Given the description of an element on the screen output the (x, y) to click on. 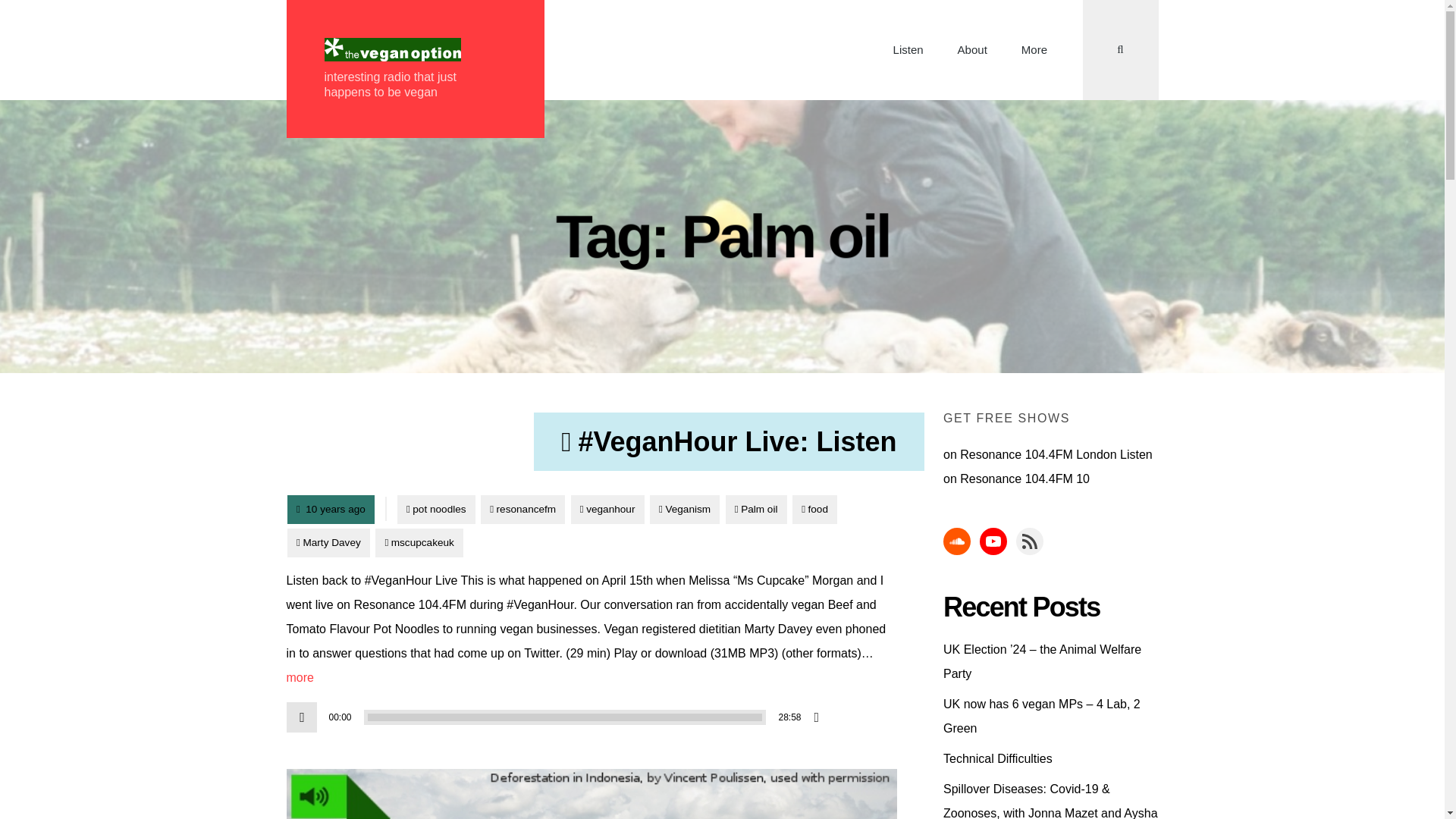
veganhour (607, 509)
Veganism (684, 509)
mscupcakeuk (419, 542)
resonancefm (522, 509)
More (1034, 50)
Listen on Resonance 104.4FM (1029, 454)
About (972, 50)
Mute (821, 717)
Listen (908, 50)
